Given the description of an element on the screen output the (x, y) to click on. 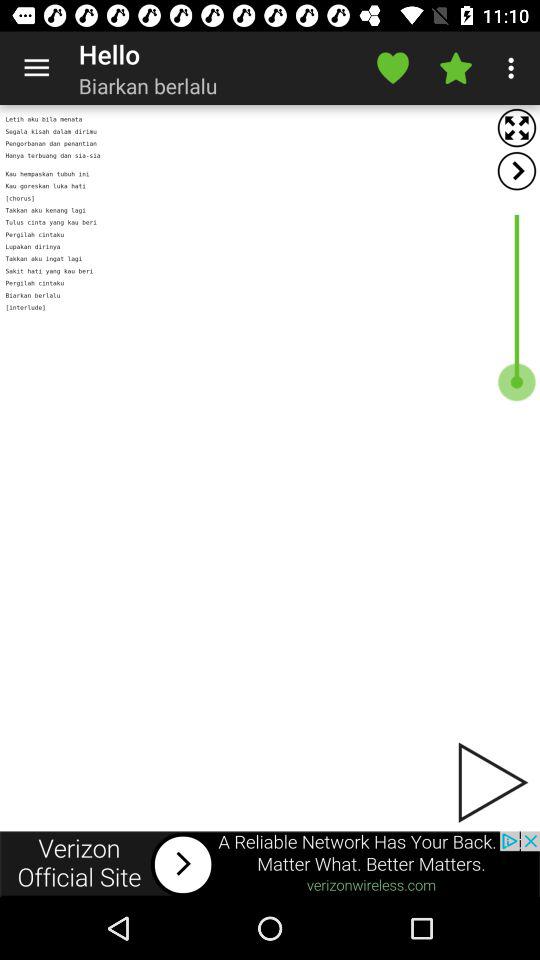
advertisement (270, 864)
